Given the description of an element on the screen output the (x, y) to click on. 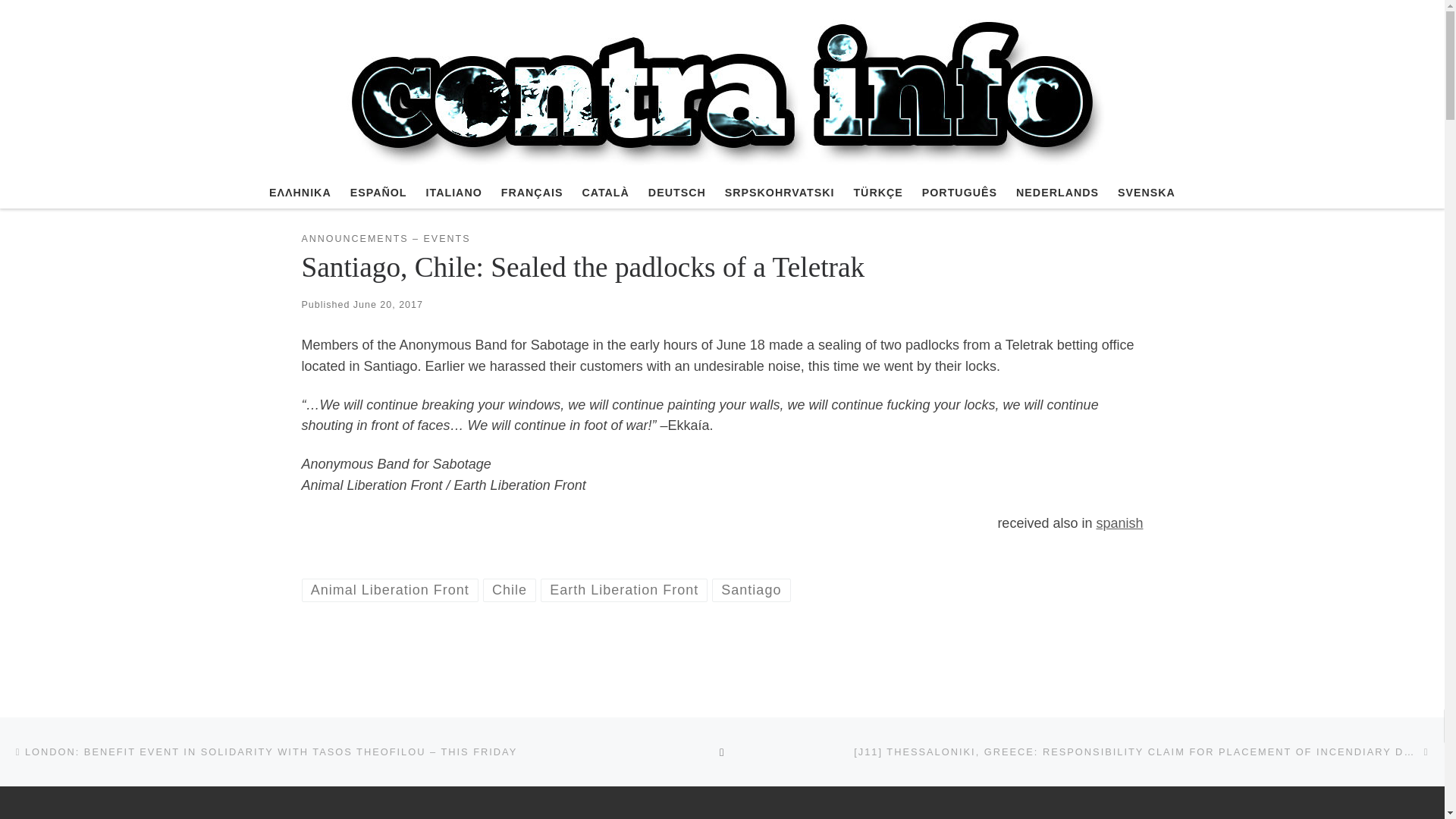
View all posts in Santiago (750, 589)
Chile (510, 589)
Skip to content (60, 20)
ITALIANO (453, 192)
DEUTSCH (676, 192)
View all posts in Earth Liberation Front (623, 589)
Animal Liberation Front (390, 589)
Santiago (750, 589)
View all posts in Animal Liberation Front (390, 589)
8:36 pm (388, 304)
